Given the description of an element on the screen output the (x, y) to click on. 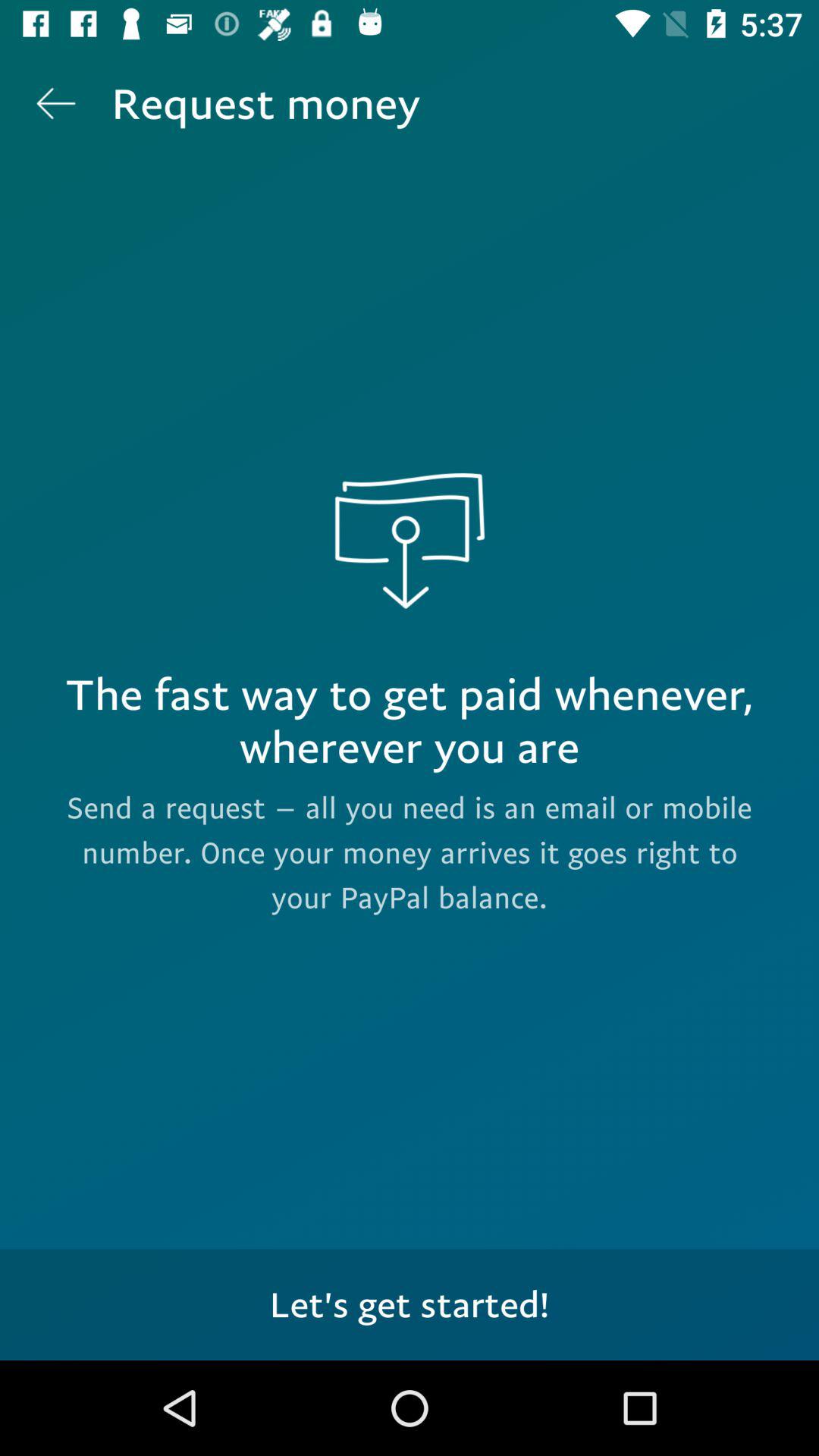
tap icon at the top left corner (55, 103)
